Given the description of an element on the screen output the (x, y) to click on. 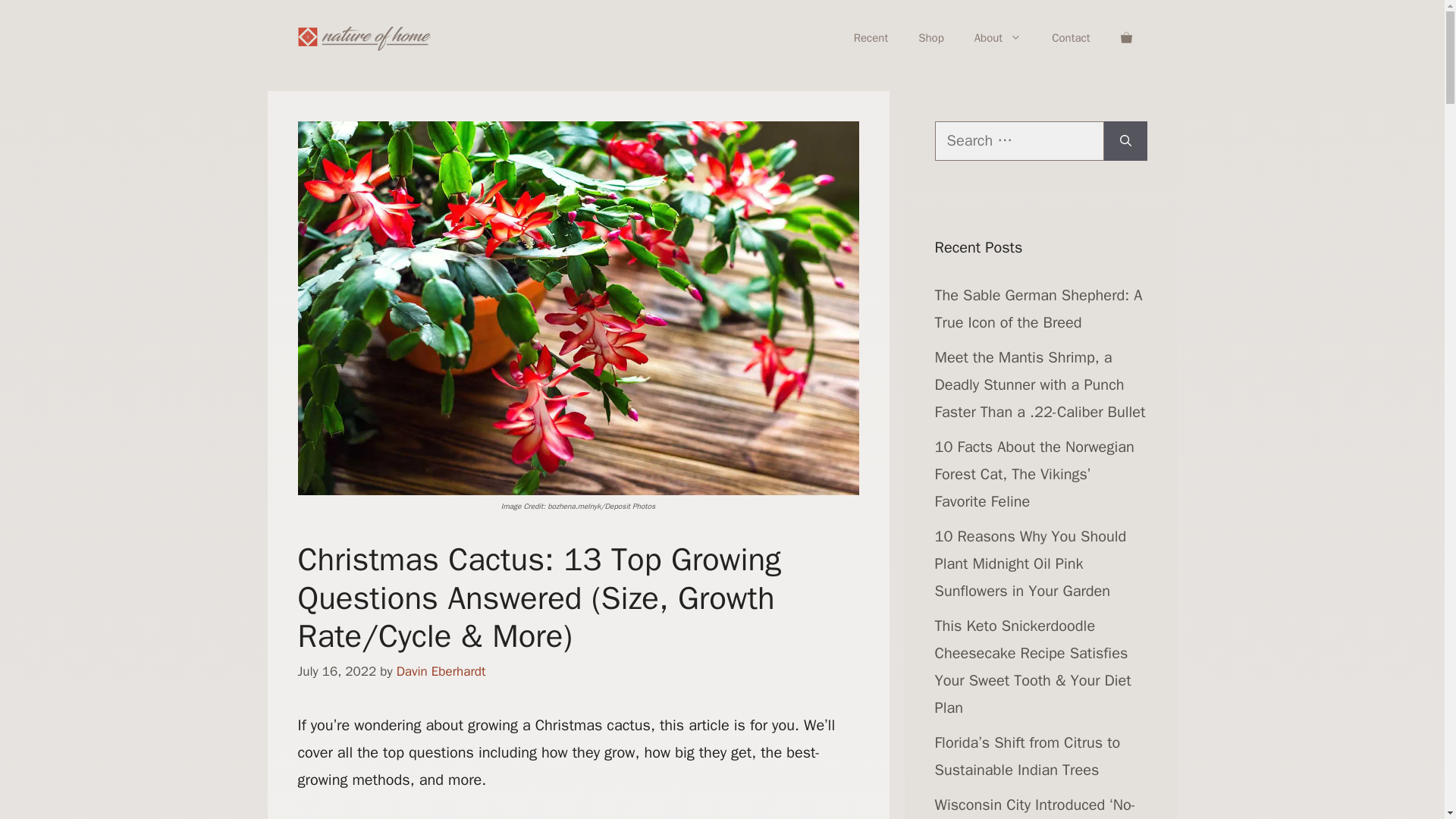
View your shopping cart (1126, 37)
Contact (1070, 37)
Davin Eberhardt (441, 671)
About (997, 37)
Recent (871, 37)
View all posts by Davin Eberhardt (441, 671)
Shop (930, 37)
